Given the description of an element on the screen output the (x, y) to click on. 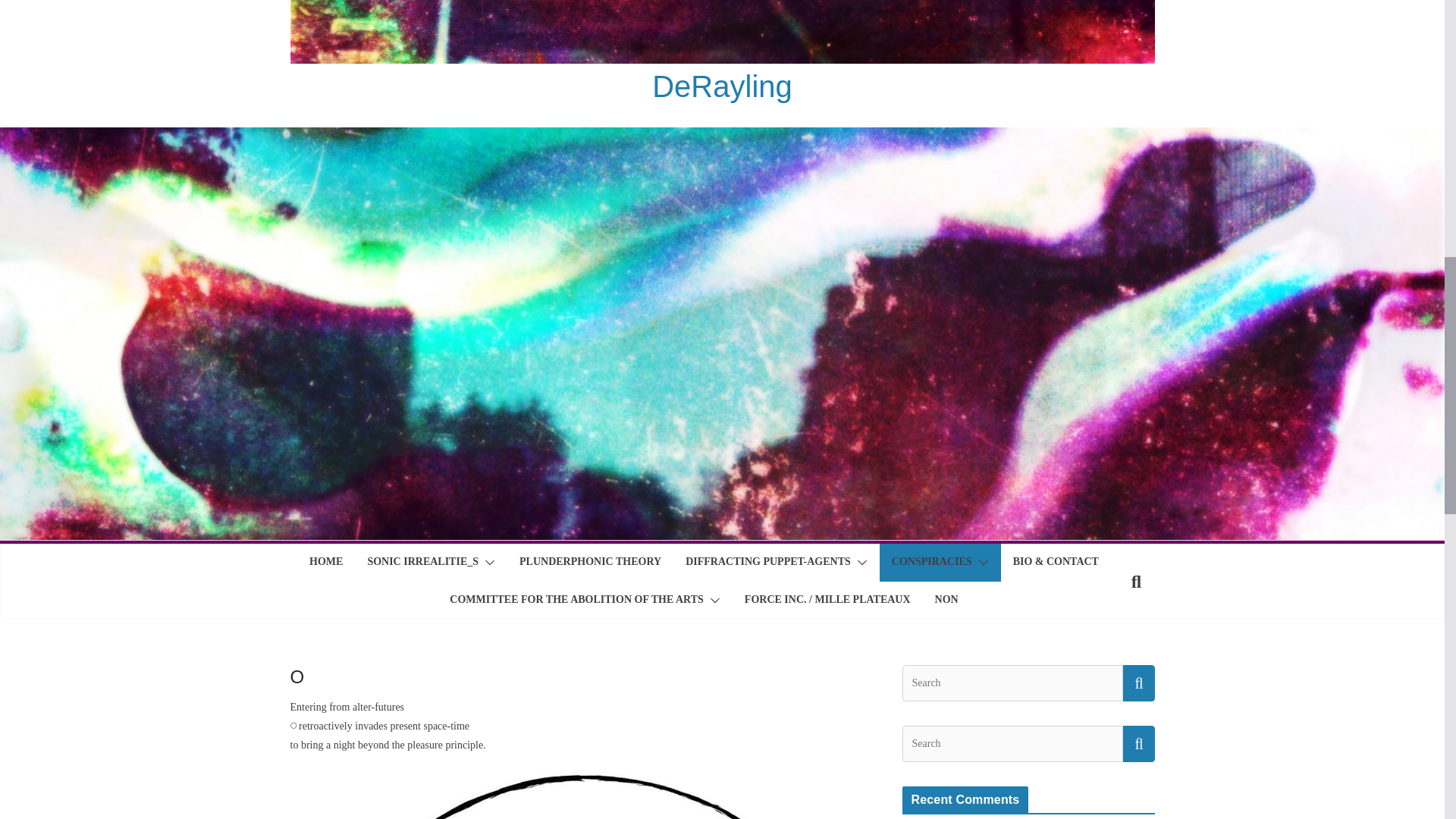
DIFFRACTING PUPPET-AGENTS (767, 562)
NON (946, 599)
HOME (325, 562)
CONSPIRACIES (931, 562)
DeRayling (722, 86)
DeRayling (722, 86)
COMMITTEE FOR THE ABOLITION OF THE ARTS (576, 599)
PLUNDERPHONIC THEORY (590, 562)
